Given the description of an element on the screen output the (x, y) to click on. 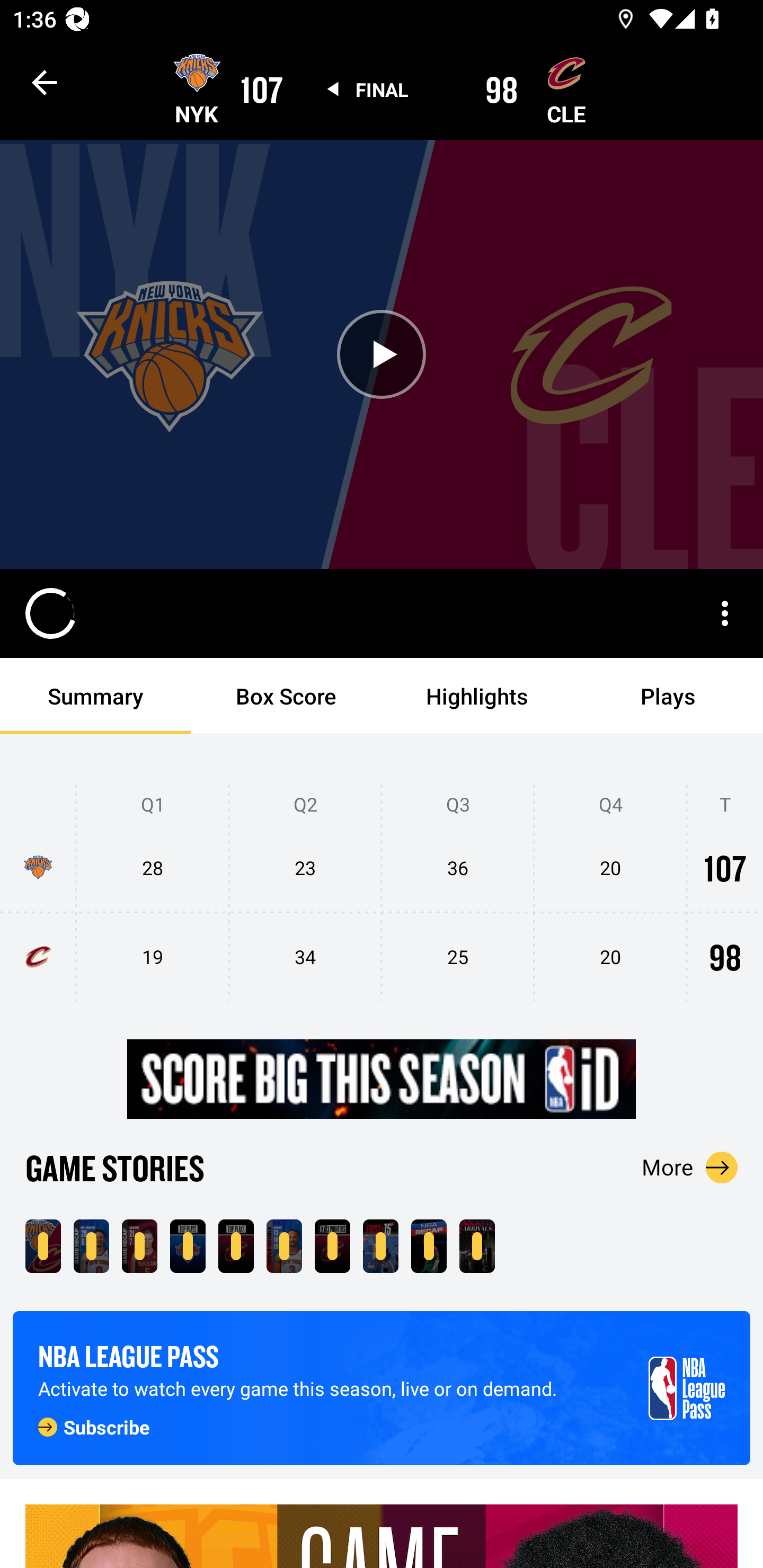
Navigate up (44, 82)
More options (724, 613)
Box Score (285, 695)
Highlights (476, 695)
Plays (667, 695)
Q1 Q2 Q3 Q4 T 28 23 36 20 107 19 34 25 20 98 (381, 893)
More (689, 1166)
NYK 107, CLE 98 - Mar 3 NEW (43, 1246)
Highlights From Sam Merrill's 21-Point Game NEW (139, 1246)
NYK's Top Plays from NYK vs. CLE NEW (187, 1246)
CLE's Top Plays from NYK vs. CLE NEW (236, 1246)
Highlights from Josh Hart's Triple-Double NEW (284, 1246)
All 3-pointers from CLE's 17 3-pointer Night NEW (332, 1246)
First To 15, Mar. 3rd NEW (380, 1246)
Sunday's Recap NEW (428, 1246)
Steppin' Into Sunday 🔥 NEW (477, 1246)
